Given the description of an element on the screen output the (x, y) to click on. 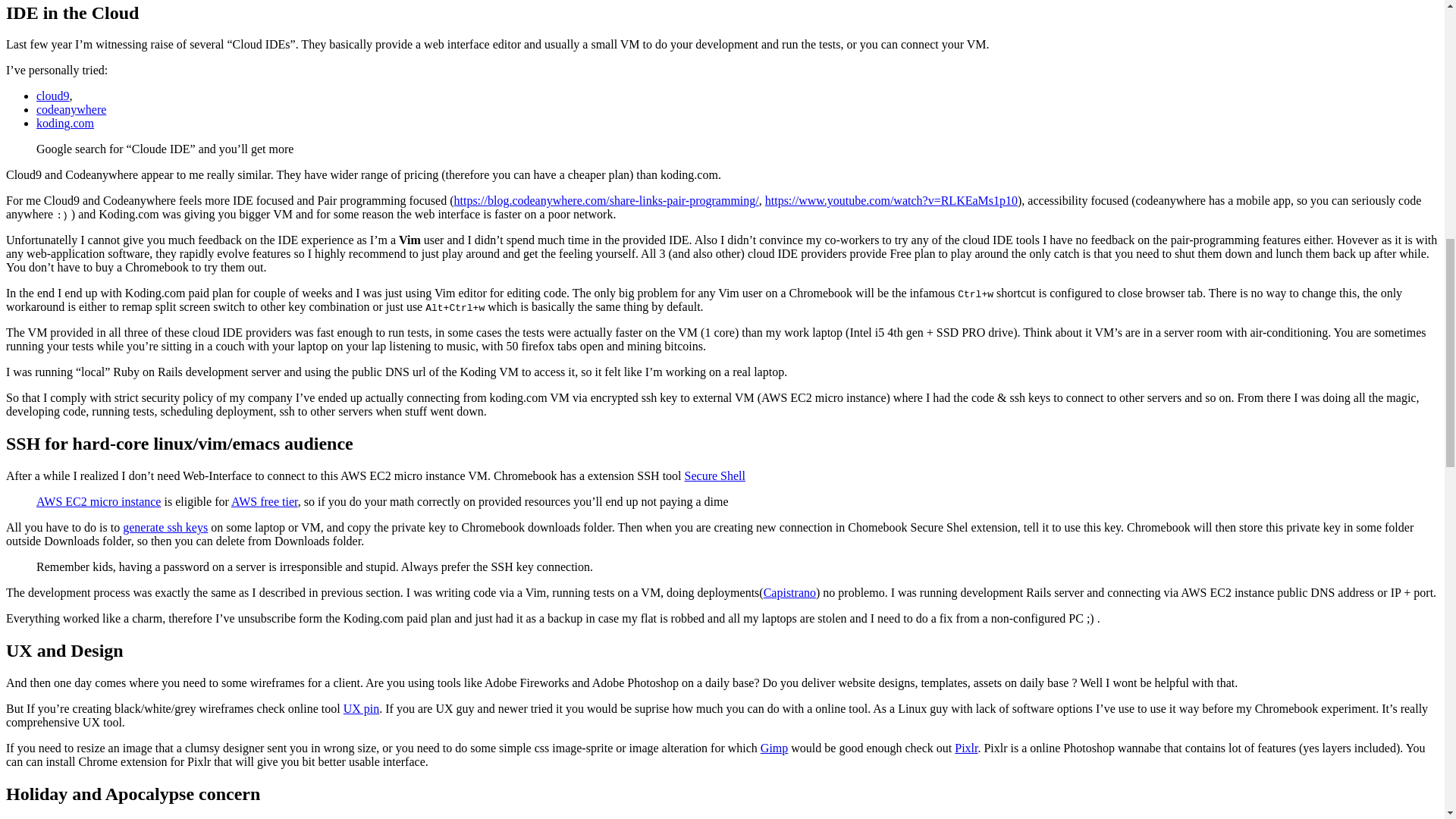
AWS EC2 micro instance (98, 501)
cloud9 (52, 95)
Secure Shell (714, 475)
koding.com (65, 123)
AWS free tier (264, 501)
Gimp (773, 748)
codeanywhere (71, 109)
UX pin (361, 707)
Capistrano (788, 592)
Pixlr (965, 748)
generate ssh keys (165, 526)
